Given the description of an element on the screen output the (x, y) to click on. 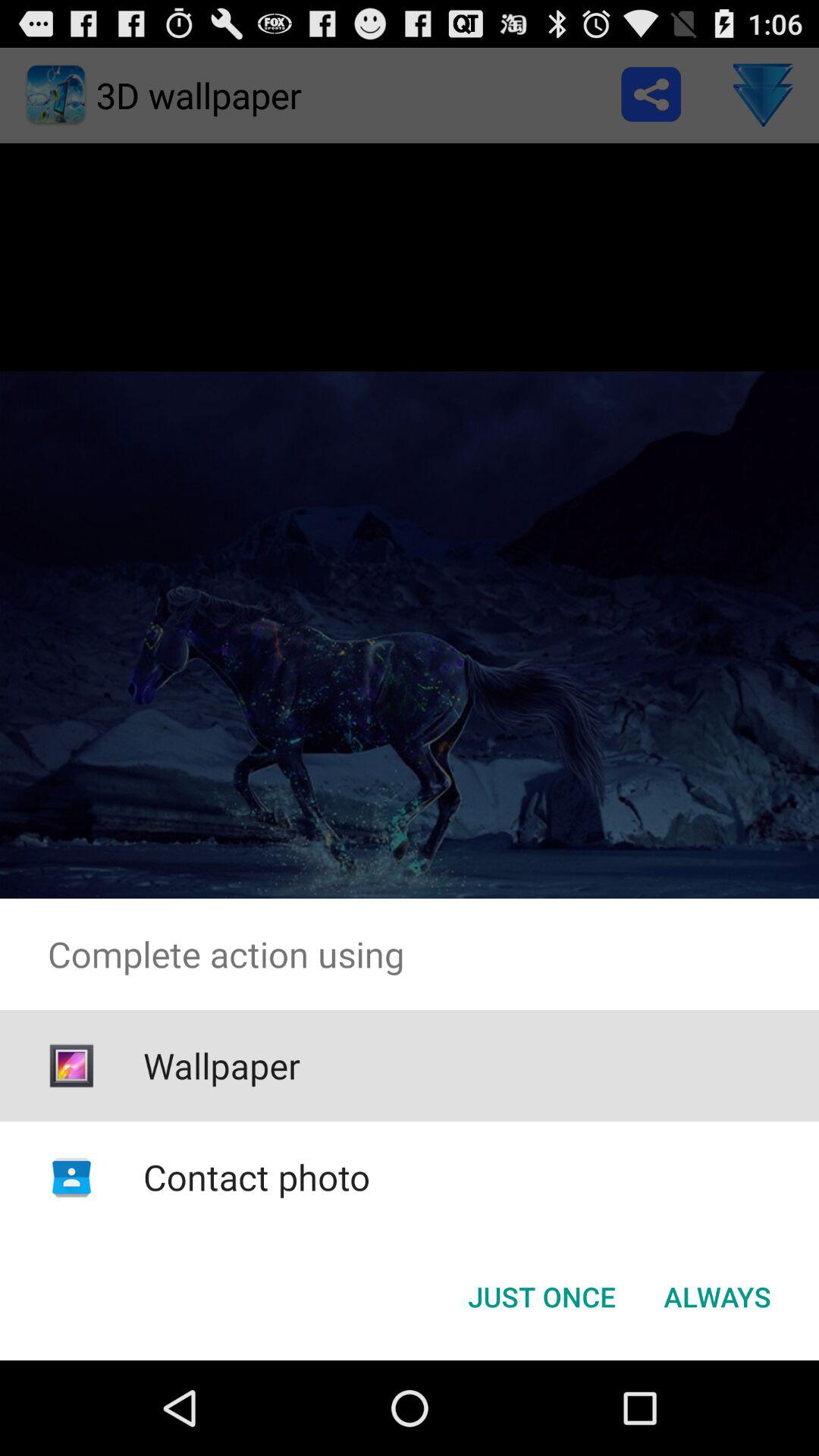
tap button to the right of the just once icon (717, 1296)
